Given the description of an element on the screen output the (x, y) to click on. 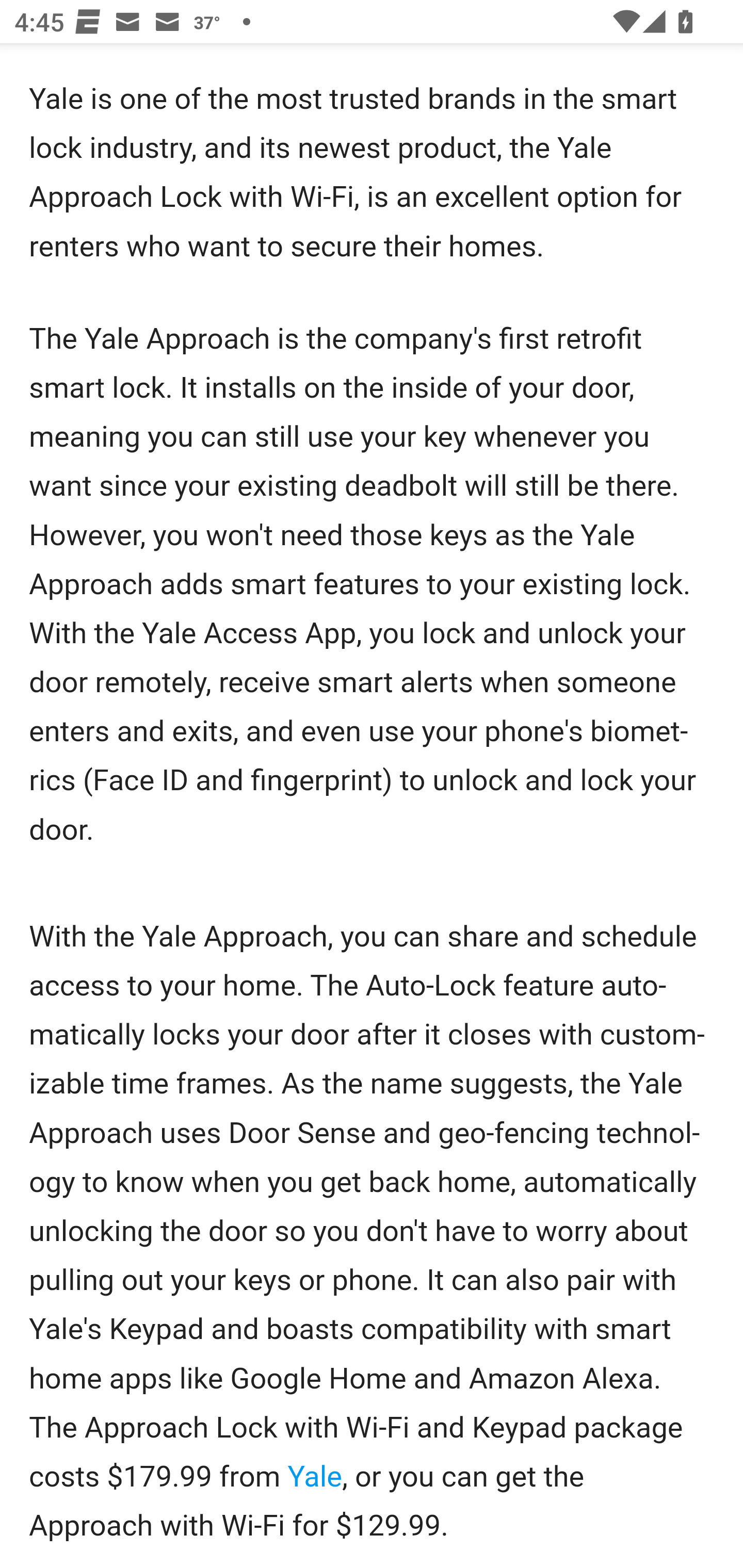
Yale (314, 1478)
